Given the description of an element on the screen output the (x, y) to click on. 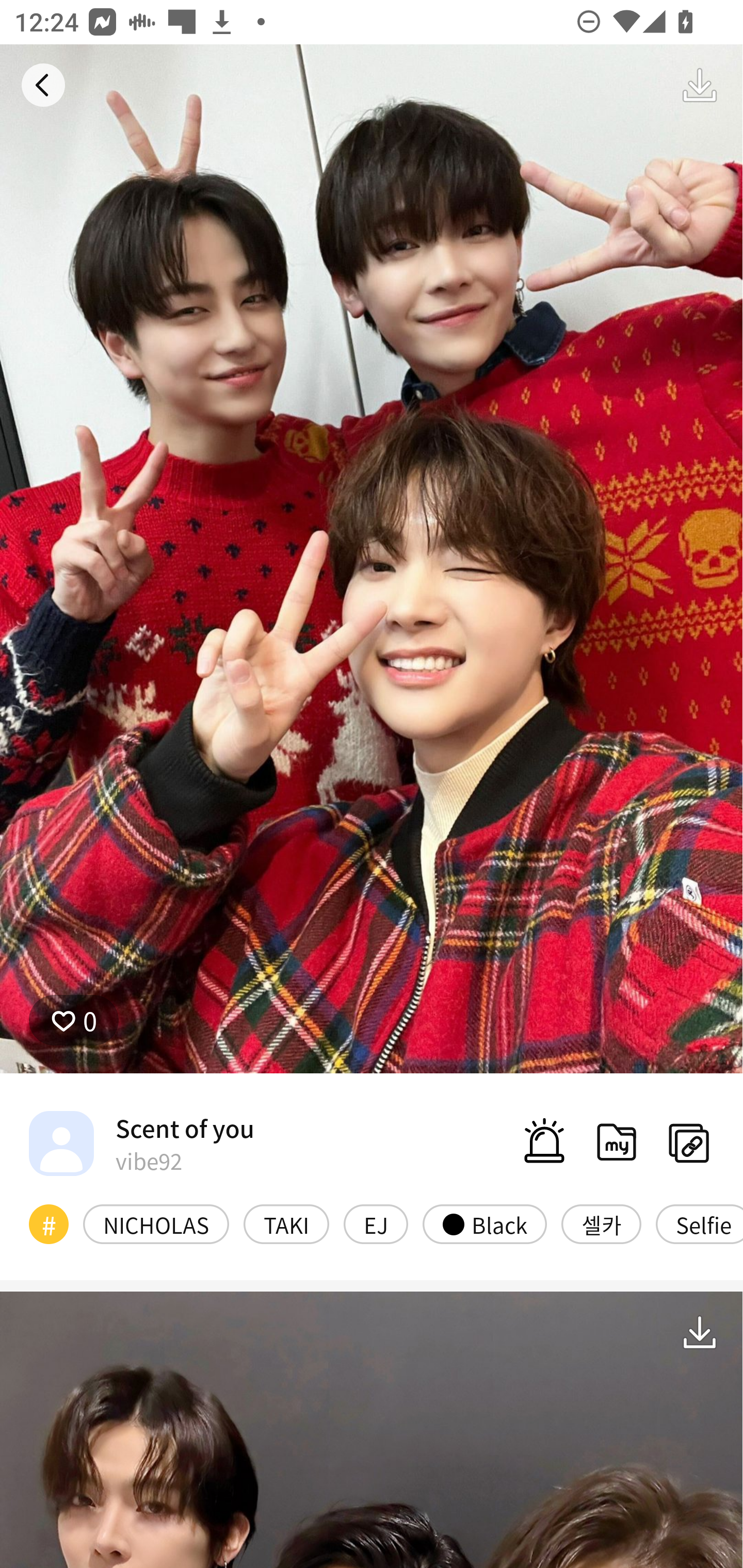
0 (73, 1019)
Scent of you vibe92 (141, 1143)
NICHOLAS (155, 1223)
TAKI (286, 1223)
EJ (375, 1223)
Black (484, 1223)
셀카 (601, 1223)
Selfie (699, 1223)
